Given the description of an element on the screen output the (x, y) to click on. 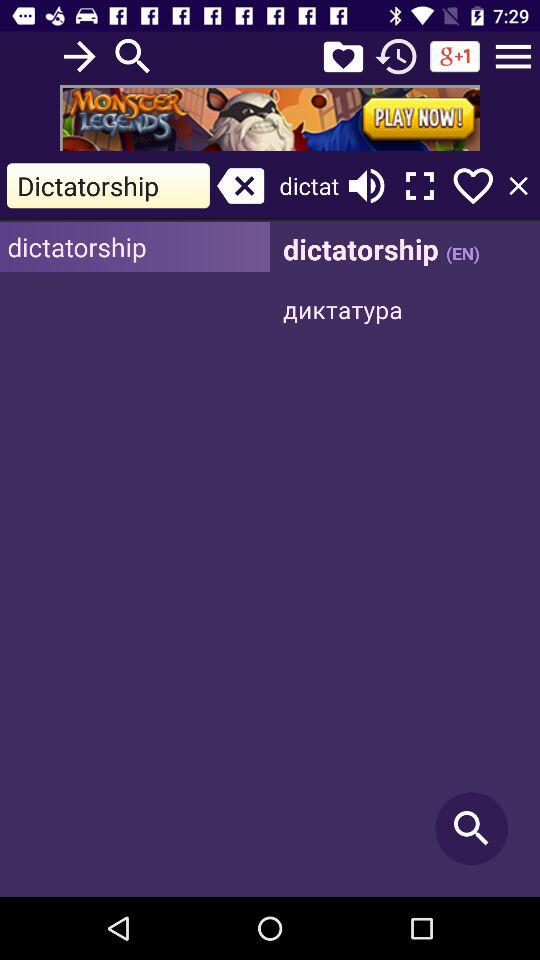
favorites (343, 56)
